Given the description of an element on the screen output the (x, y) to click on. 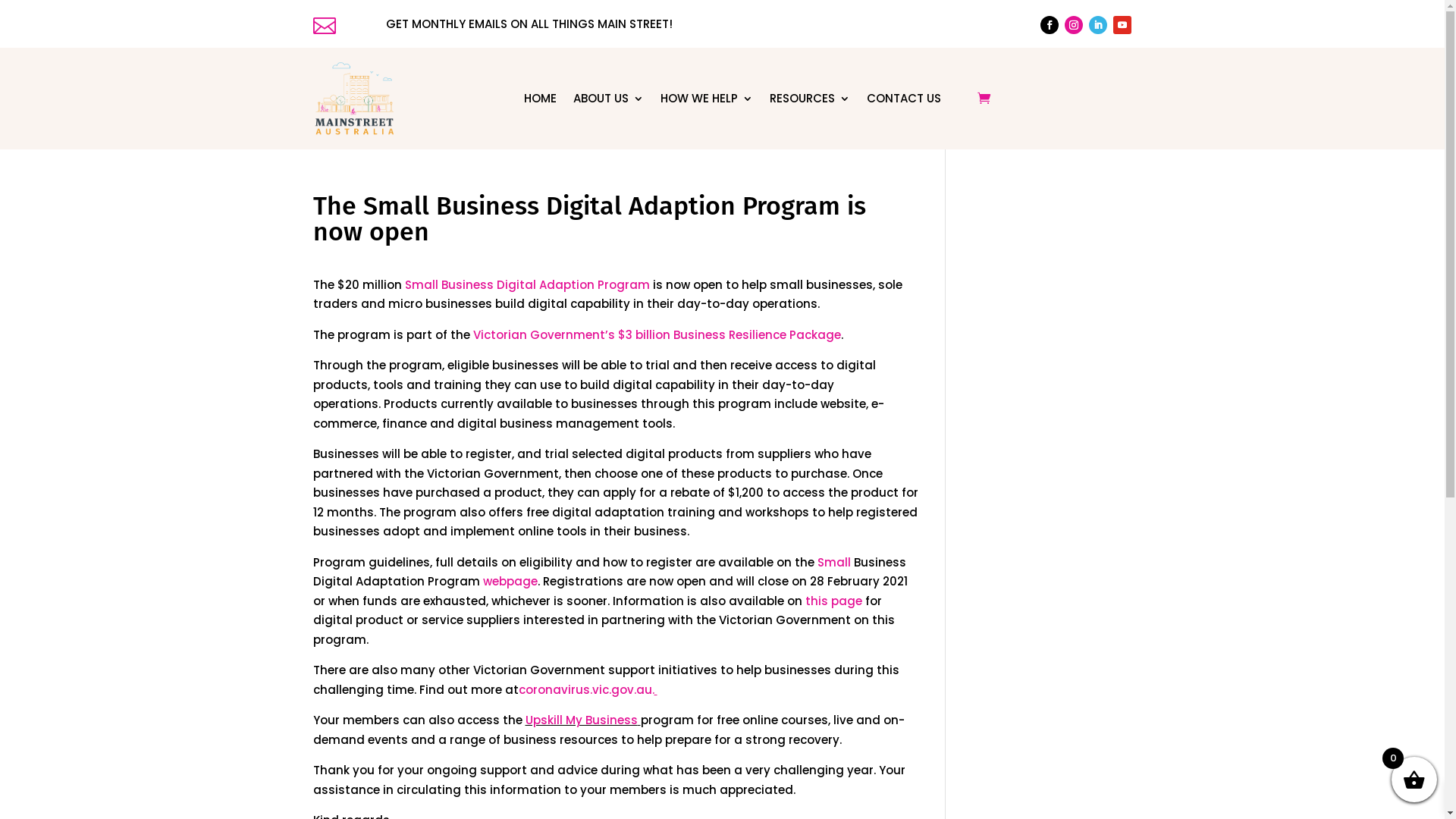
Follow on LinkedIn Element type: hover (1097, 24)
this page Element type: text (833, 600)
Follow on Instagram Element type: hover (1073, 24)
HOW WE HELP Element type: text (706, 98)
CONTACT US Element type: text (903, 98)
webpage Element type: text (509, 581)
Upskill My Business Element type: text (580, 720)
Small Business Digital Adaption Program Element type: text (526, 284)
Follow on Youtube Element type: hover (1122, 24)
Follow on Facebook Element type: hover (1049, 24)
HOME Element type: text (540, 98)
coronavirus.vic.gov.au.  Element type: text (587, 689)
ABOUT US Element type: text (608, 98)
Small Element type: text (833, 562)
RESOURCES Element type: text (809, 98)
